Given the description of an element on the screen output the (x, y) to click on. 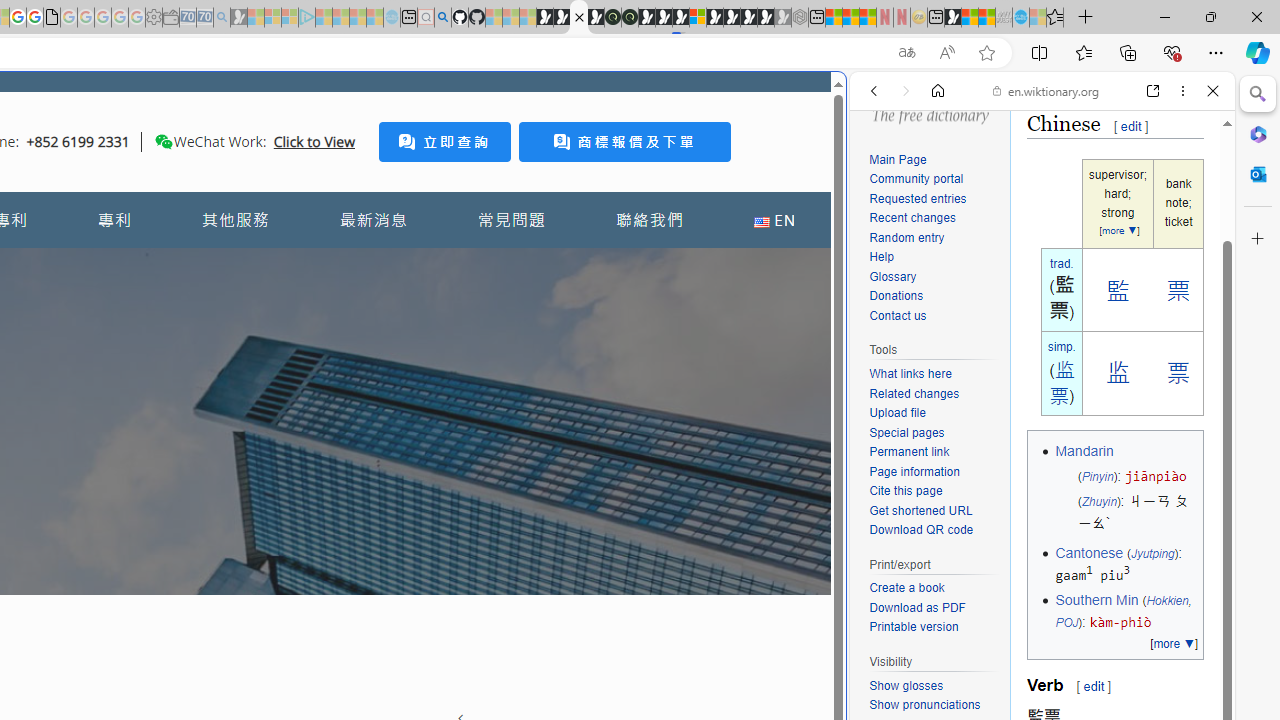
What links here (910, 374)
Contact us (934, 316)
simp. (1061, 346)
